Given the description of an element on the screen output the (x, y) to click on. 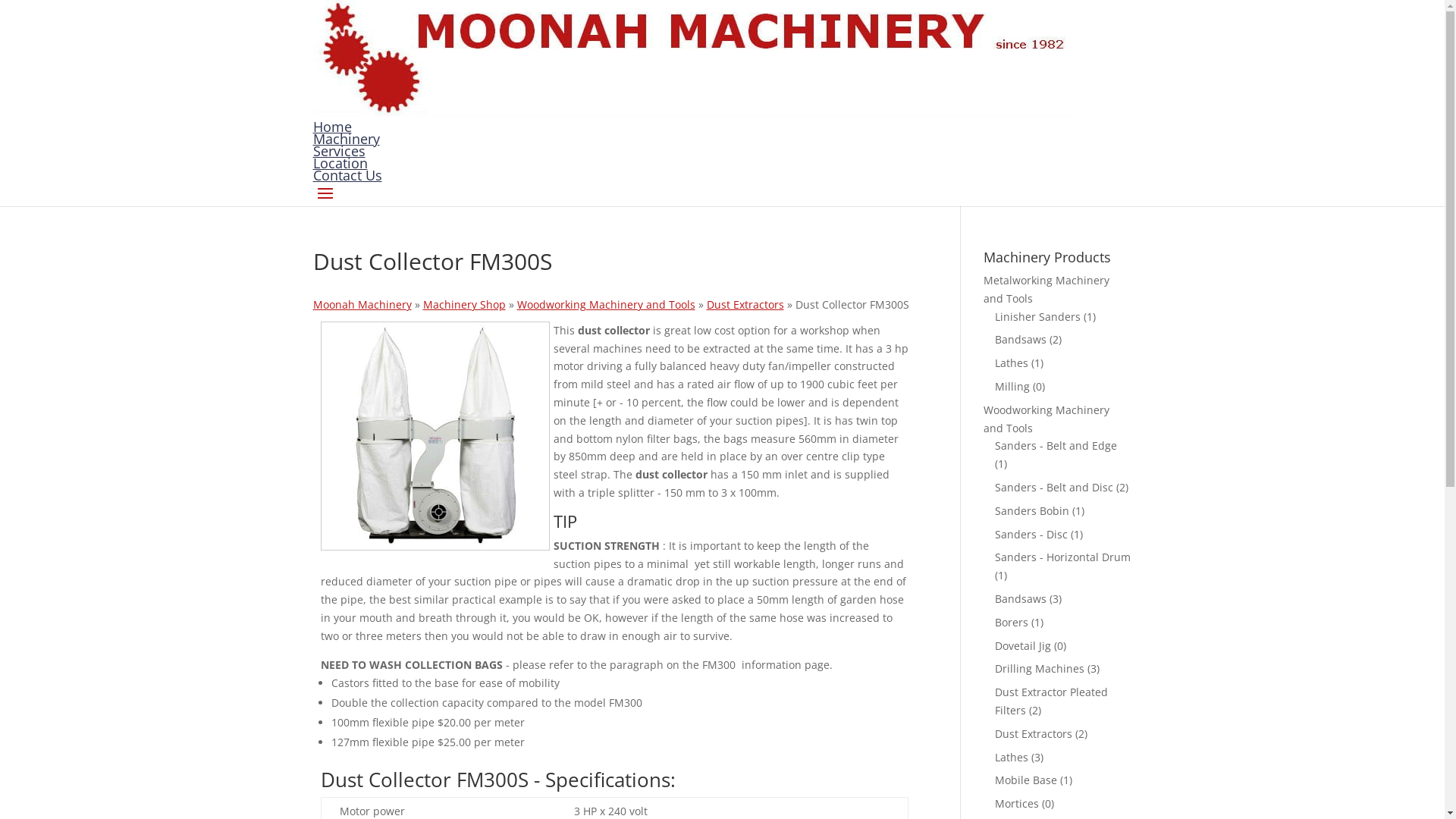
Dovetail Jig (0) Element type: text (1030, 645)
Machinery Element type: text (345, 138)
Linisher Sanders (1) Element type: text (1044, 316)
Woodworking Machinery and Tools Element type: text (606, 304)
Moonah Machinery Element type: text (361, 304)
Dust Extractors Element type: text (745, 304)
Woodworking Machinery and Tools Element type: text (1046, 418)
Bandsaws (3) Element type: text (1027, 598)
Location Element type: text (339, 162)
Dust Extractors (2) Element type: text (1040, 733)
Milling (0) Element type: text (1019, 386)
Lathes (1) Element type: text (1018, 362)
Dust Collector FM300S Element type: hover (434, 435)
Sanders - Horizontal Drum (1) Element type: text (1062, 565)
Metalworking Machinery and Tools Element type: text (1046, 289)
Machinery Shop Element type: text (464, 304)
Borers (1) Element type: text (1018, 622)
Mobile Base (1) Element type: text (1033, 779)
Sanders Bobin (1) Element type: text (1039, 510)
Sanders - Belt and Edge (1) Element type: text (1055, 454)
Services Element type: text (338, 150)
Bandsaws (2) Element type: text (1027, 339)
Contact Us Element type: text (346, 175)
Mortices (0) Element type: text (1024, 803)
Sanders - Belt and Disc (2) Element type: text (1061, 487)
Drilling Machines (3) Element type: text (1046, 668)
Lathes (3) Element type: text (1018, 756)
Dust Extractor Pleated Filters (2) Element type: text (1050, 700)
Sanders - Disc (1) Element type: text (1038, 534)
Home Element type: text (331, 126)
